Given the description of an element on the screen output the (x, y) to click on. 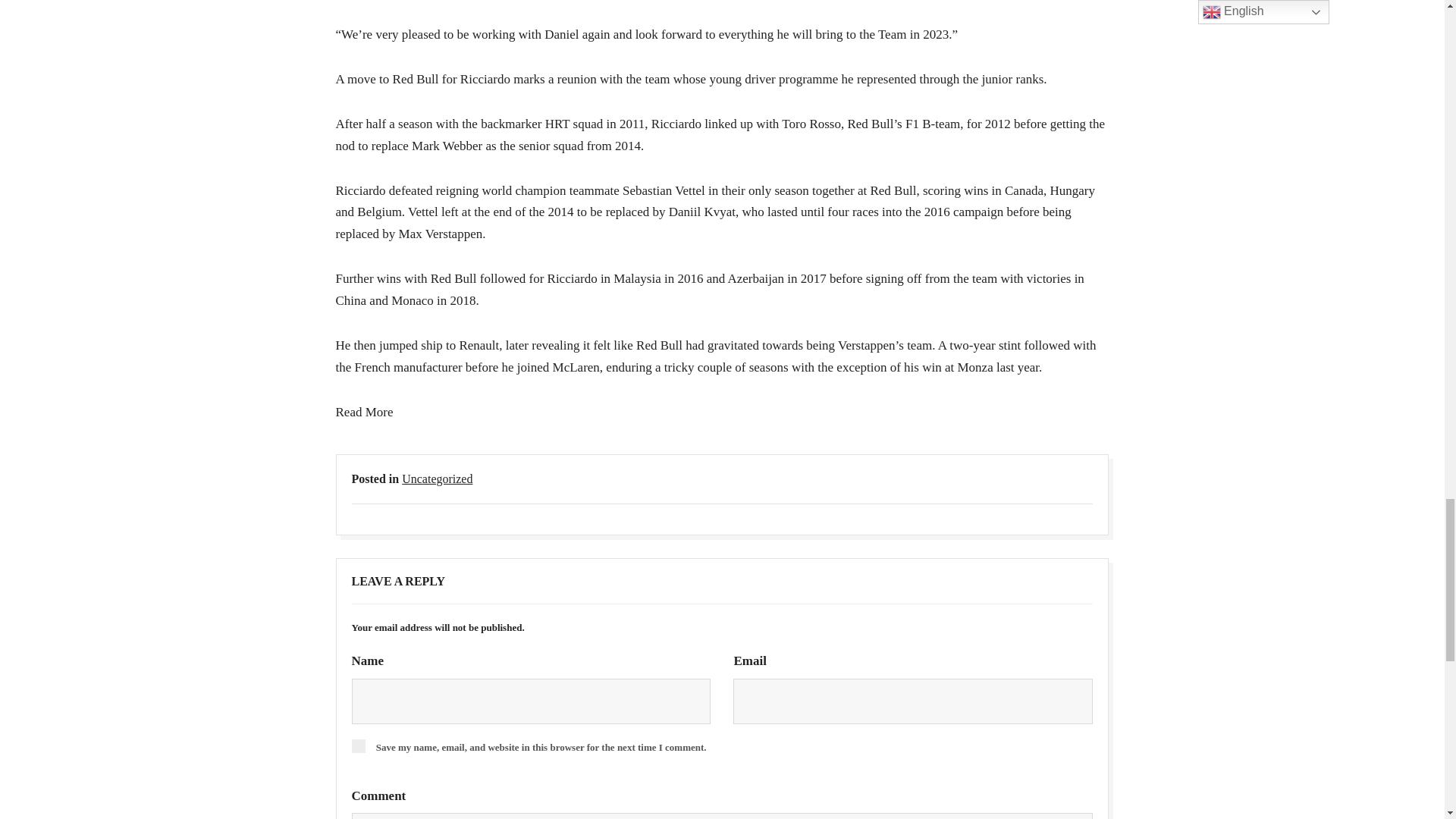
yes (358, 745)
